Given the description of an element on the screen output the (x, y) to click on. 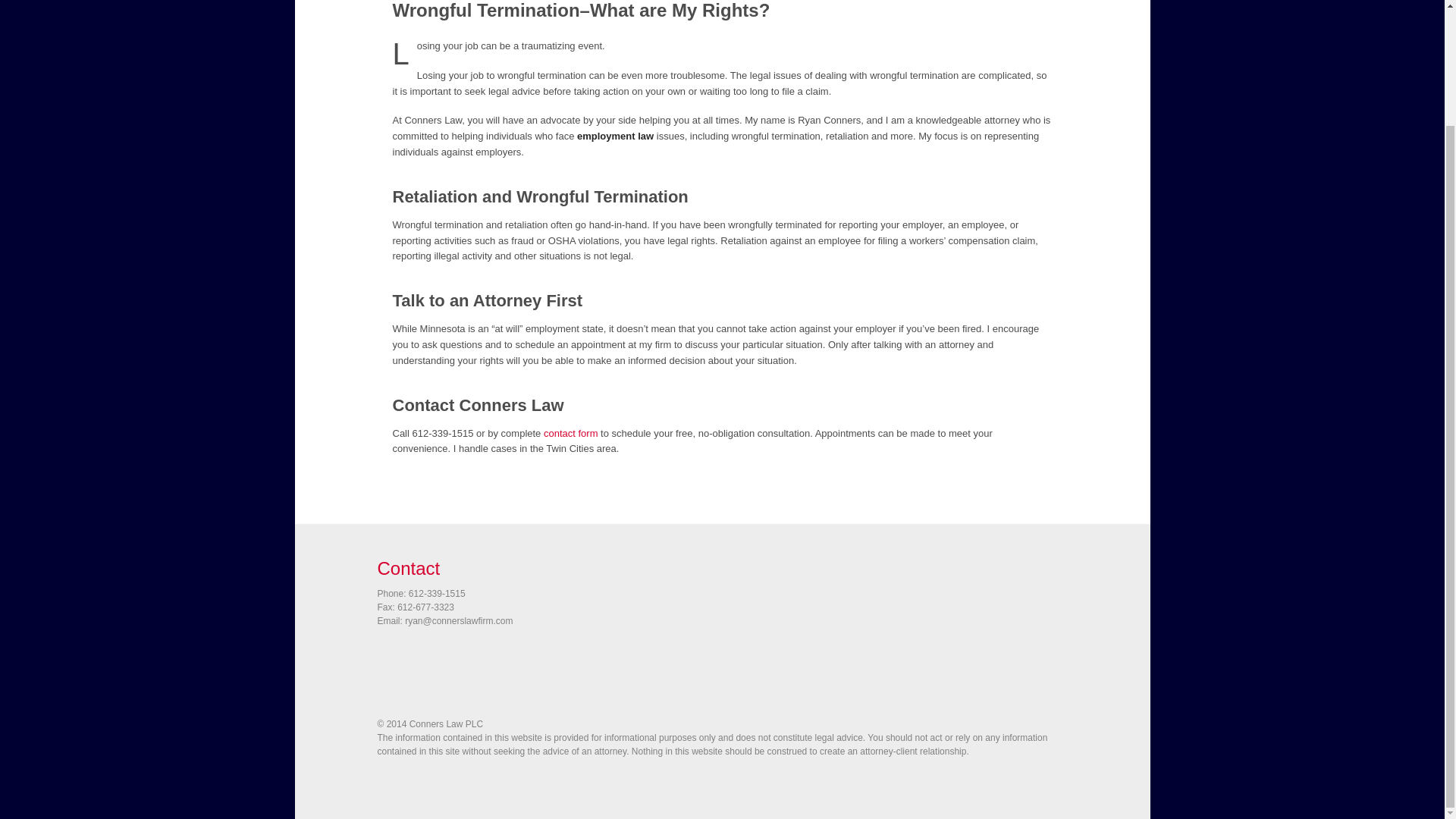
contact form (570, 432)
